Given the description of an element on the screen output the (x, y) to click on. 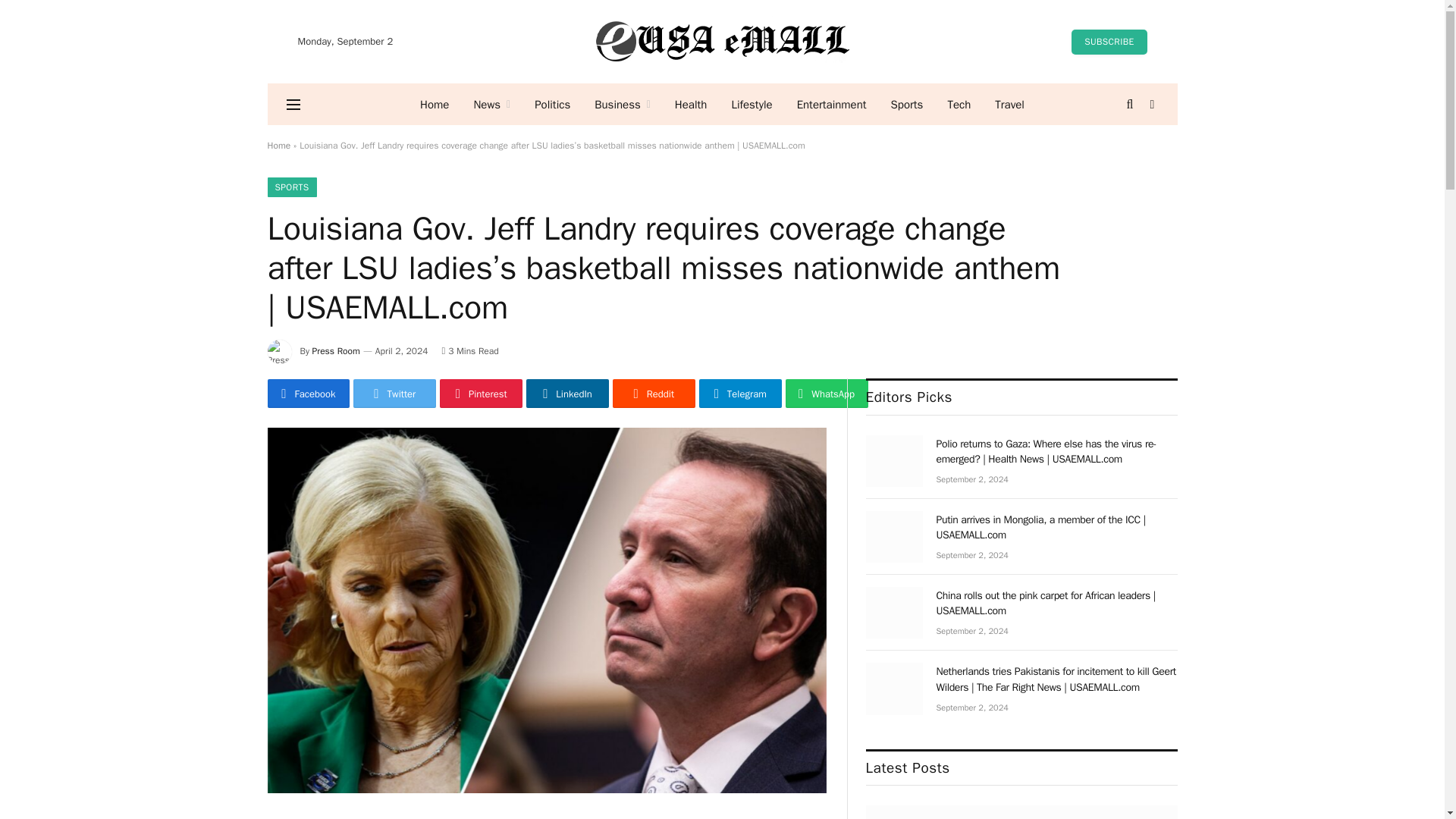
SUBSCRIBE (1109, 41)
Home (434, 104)
News (491, 104)
USAeMALL (721, 41)
